Given the description of an element on the screen output the (x, y) to click on. 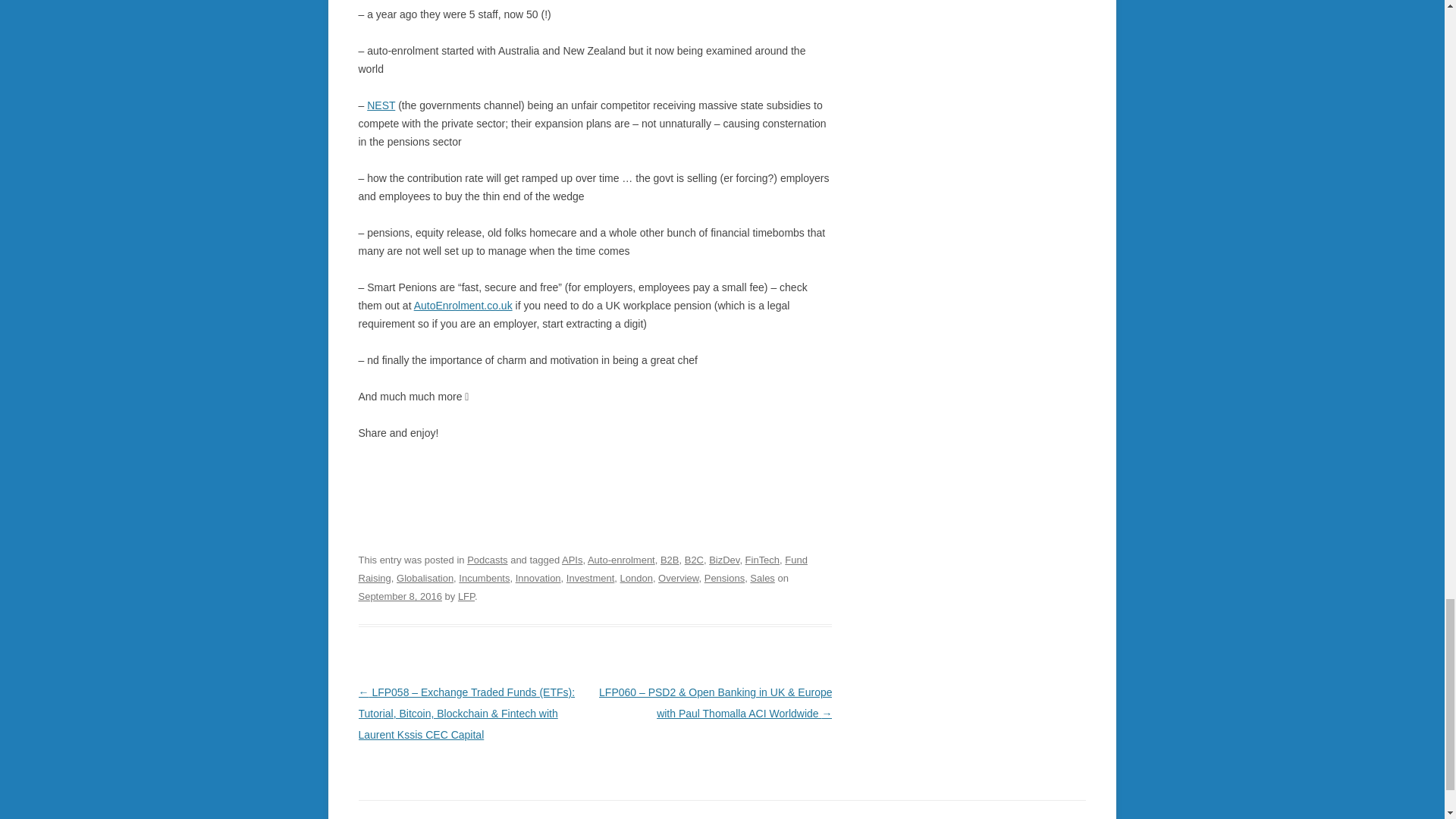
FinTech (761, 559)
AutoEnrolment.co.uk (462, 305)
Auto-enrolment (621, 559)
B2B (670, 559)
5:10 am (399, 595)
View all posts by LFP (466, 595)
Podcasts (486, 559)
NEST (380, 105)
BizDev (724, 559)
APIs (572, 559)
